Given the description of an element on the screen output the (x, y) to click on. 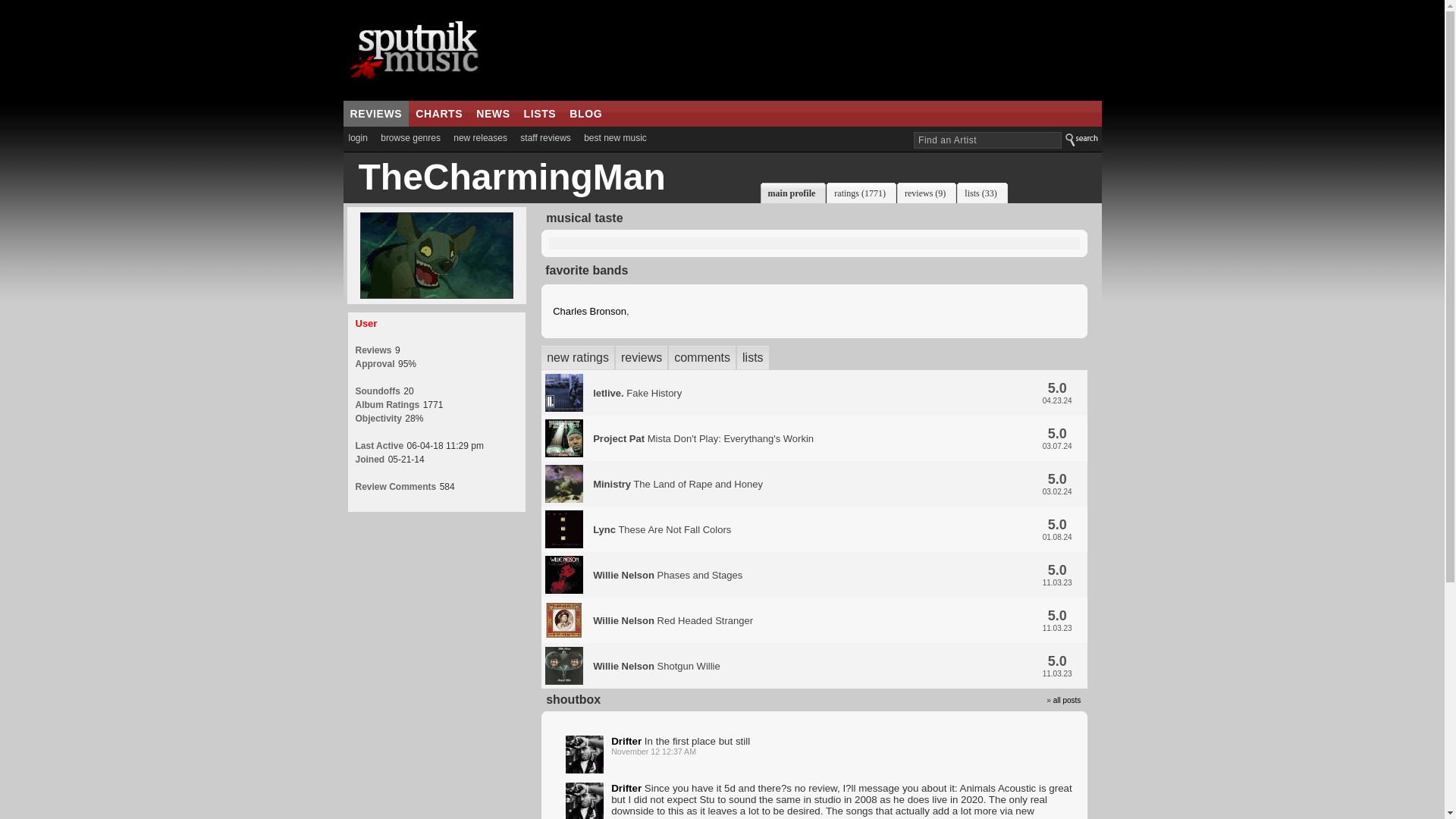
REVIEWS (375, 113)
Search (1082, 136)
CHARTS (438, 113)
Find an Artist (987, 139)
browse genres (410, 137)
NEWS (492, 113)
Search (1082, 136)
LISTS (539, 113)
login (357, 137)
BLOG (585, 113)
